Given the description of an element on the screen output the (x, y) to click on. 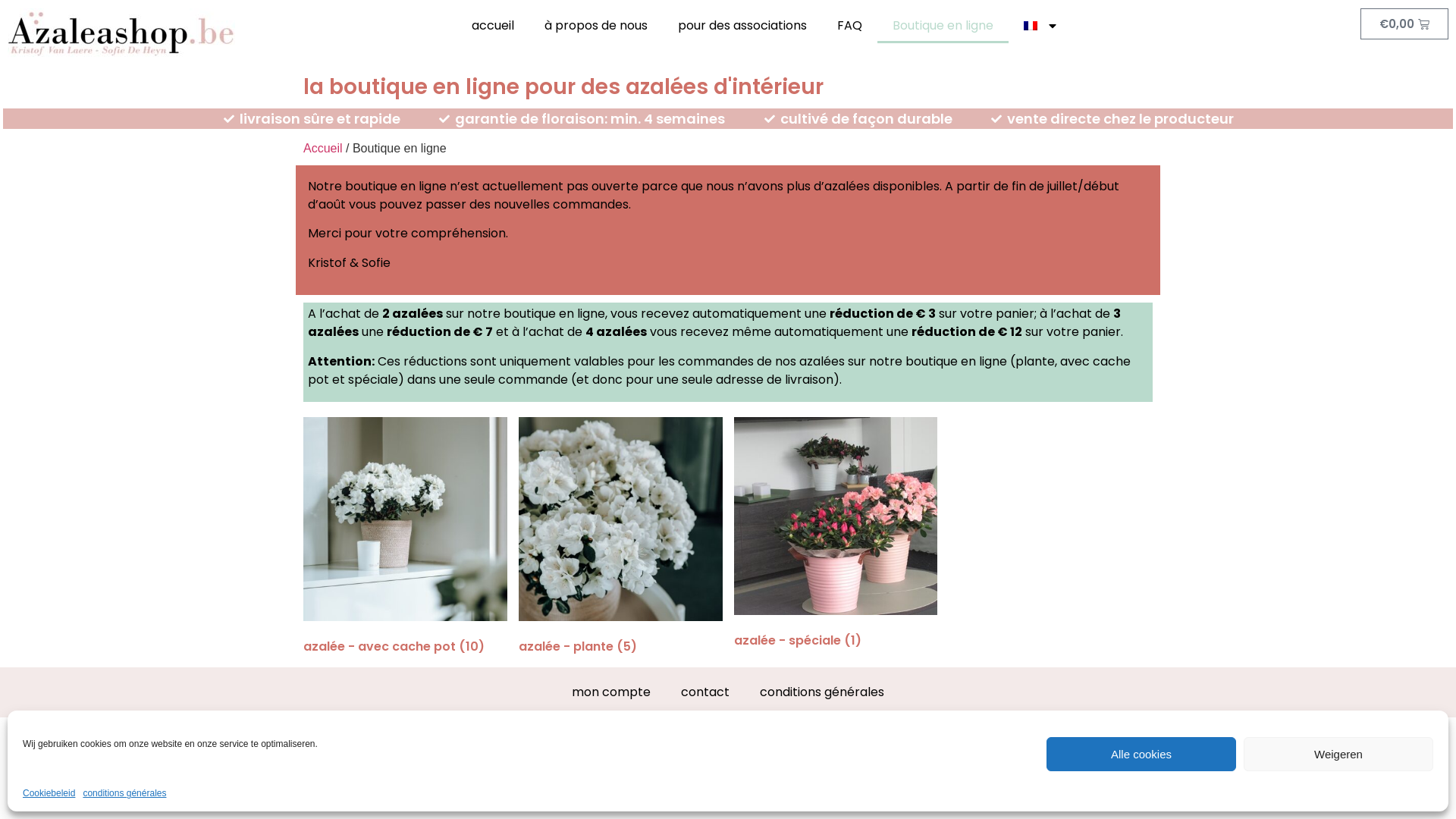
Alle cookies Element type: text (1141, 754)
FAQ Element type: text (849, 25)
mon compte Element type: text (610, 691)
accueil Element type: text (492, 25)
Weigeren Element type: text (1338, 754)
Accueil Element type: text (322, 147)
pour des associations Element type: text (742, 25)
Cookiebeleid Element type: text (48, 793)
contact Element type: text (704, 691)
Boutique en ligne Element type: text (942, 25)
